Given the description of an element on the screen output the (x, y) to click on. 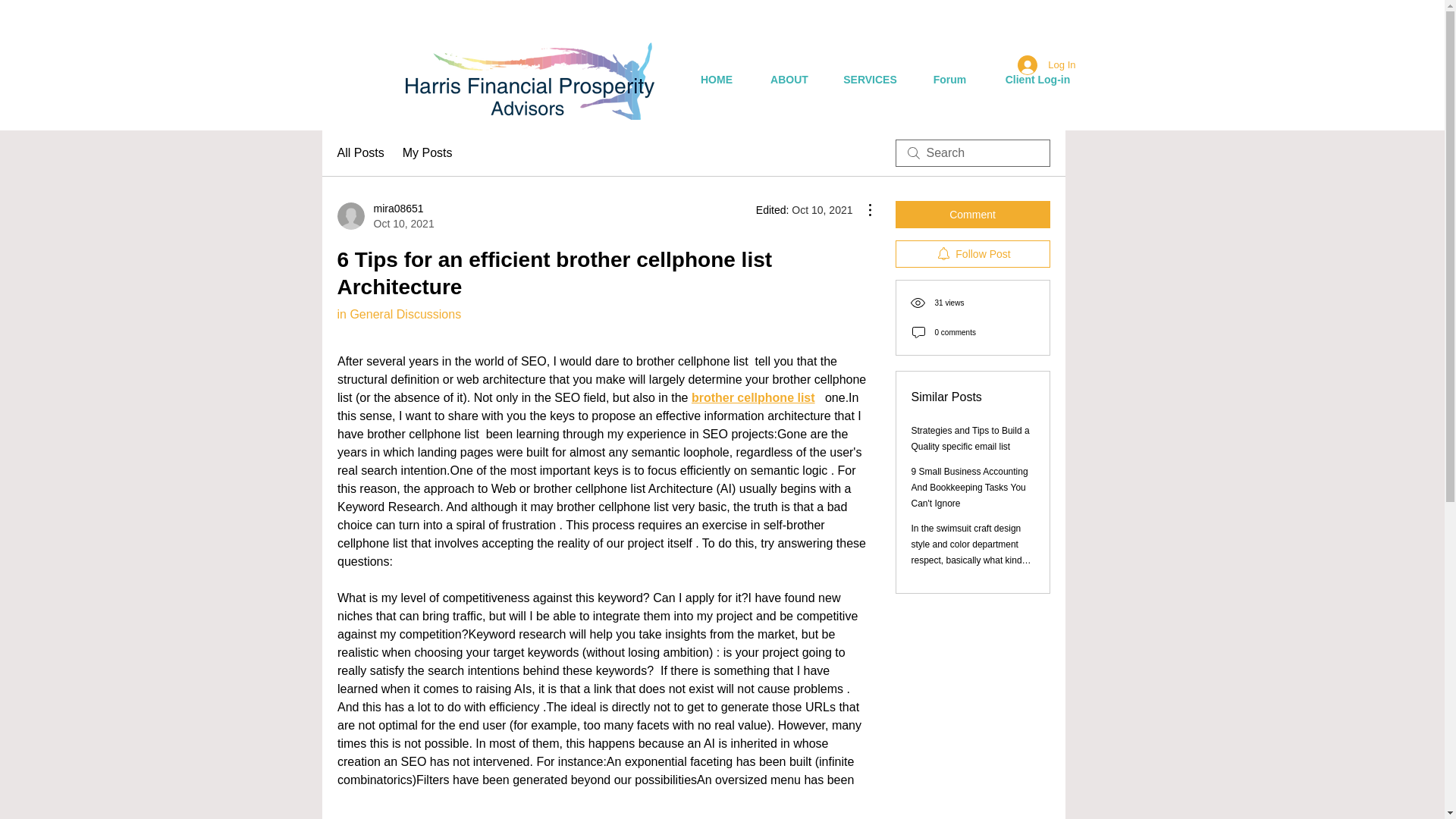
SERVICES (869, 79)
Forum (948, 79)
All Posts (360, 153)
ABOUT (789, 79)
Comment (972, 214)
Strategies and Tips to Build a Quality specific email list (970, 438)
Client Log-in (1037, 79)
My Posts (427, 153)
